Given the description of an element on the screen output the (x, y) to click on. 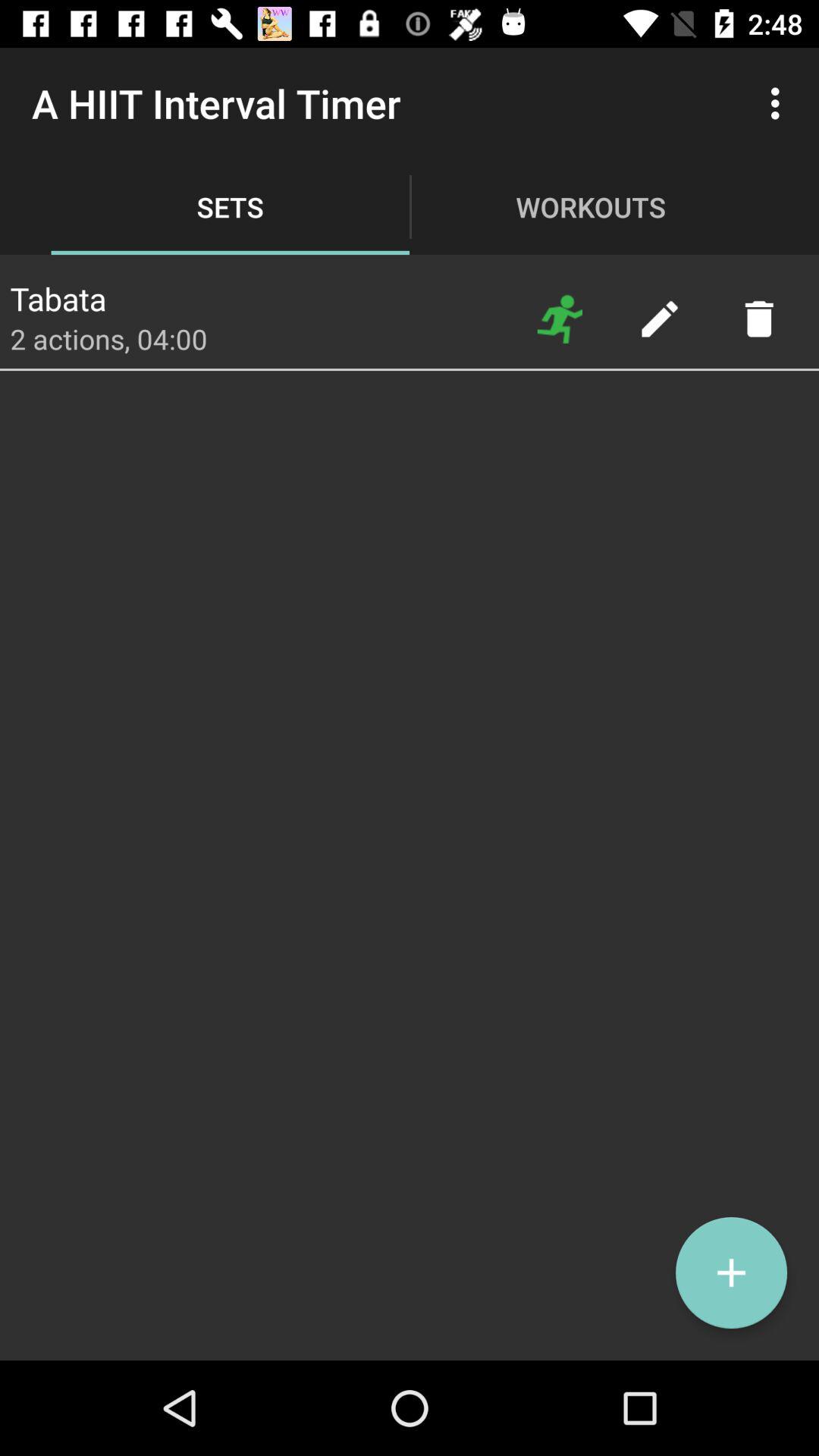
delete the selected item (758, 318)
